Given the description of an element on the screen output the (x, y) to click on. 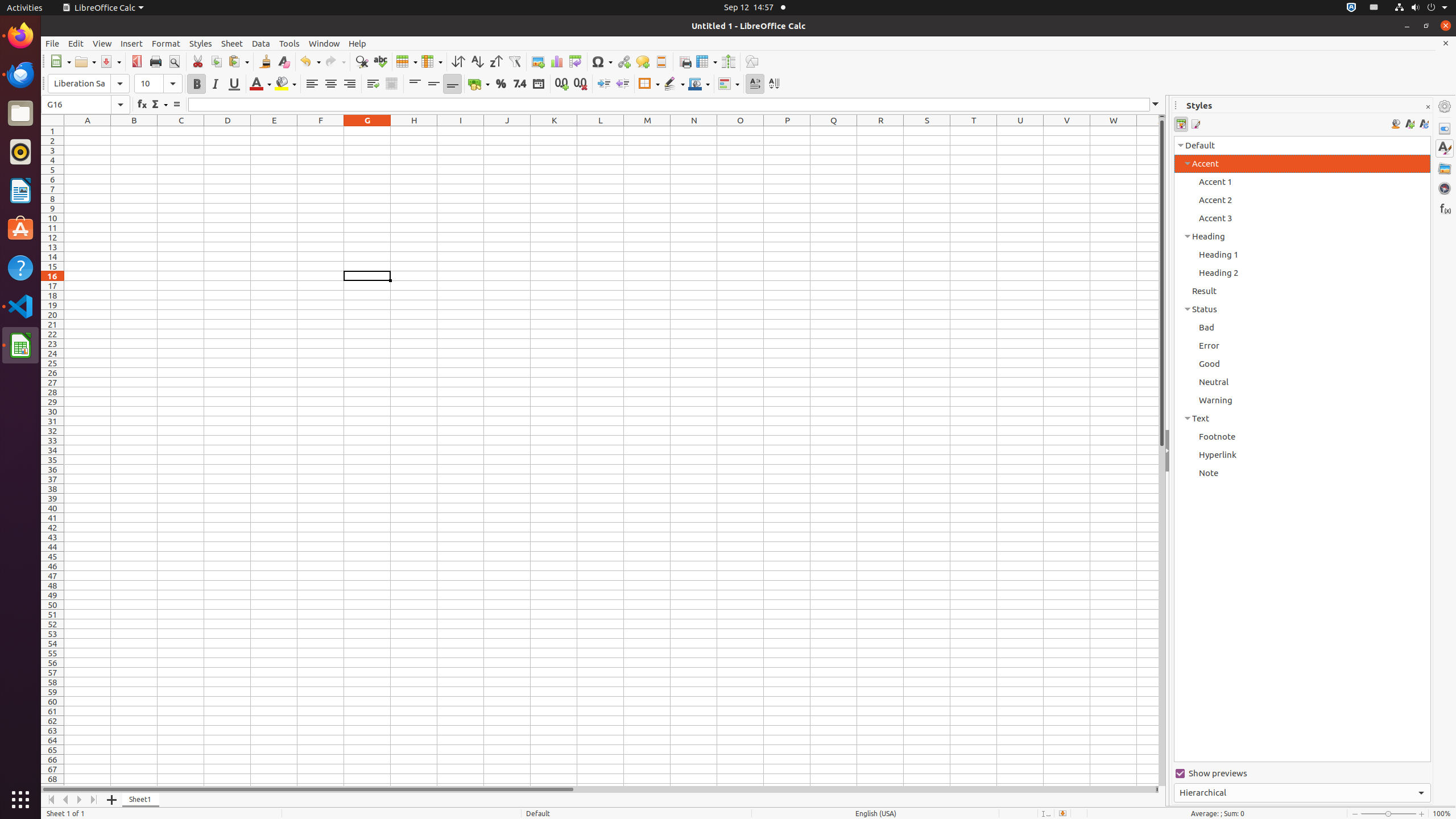
G1 Element type: table-cell (367, 130)
